Given the description of an element on the screen output the (x, y) to click on. 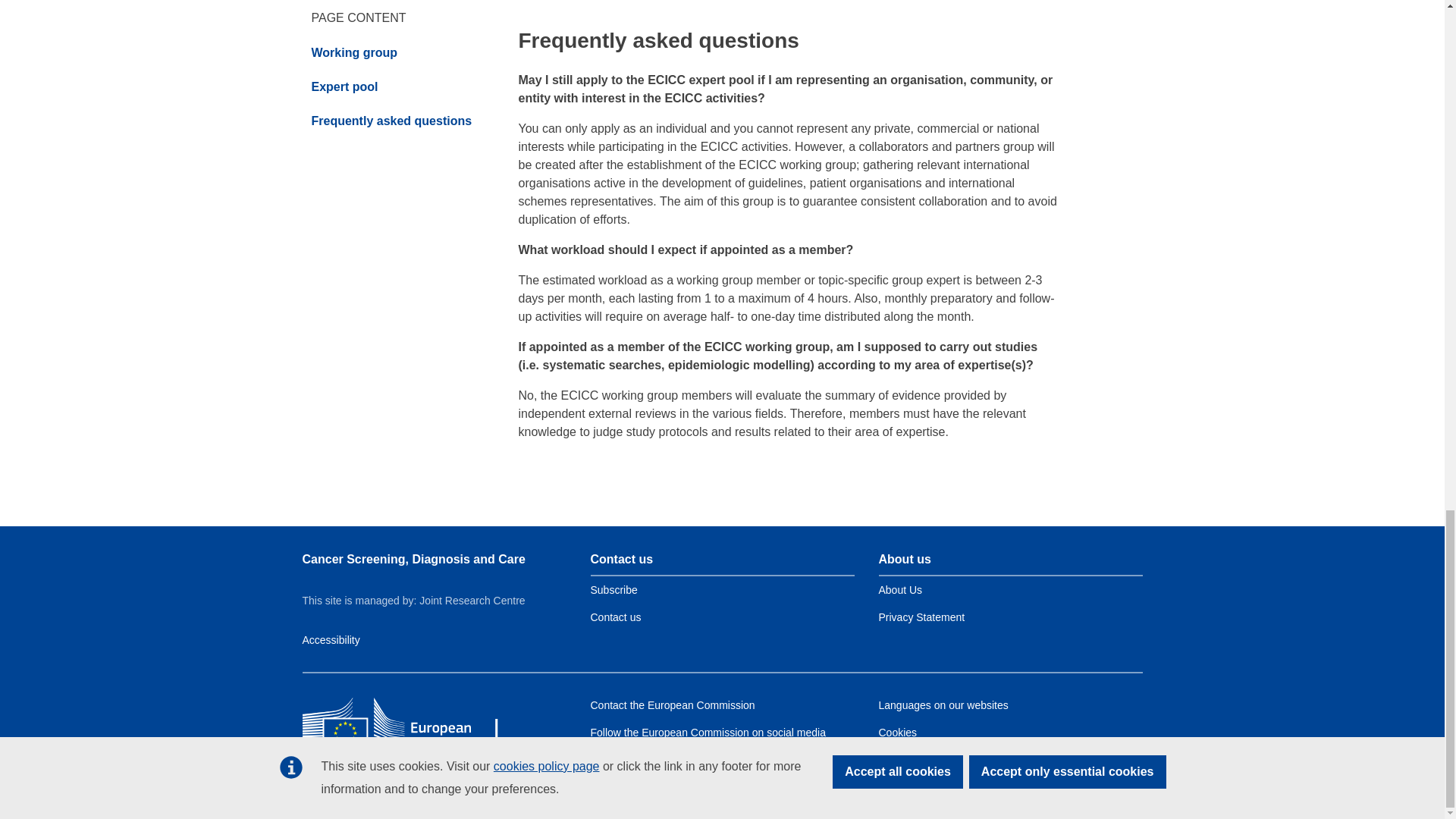
Contact us (614, 616)
Cancer Screening, Diagnosis and Care (412, 558)
Subscribe (613, 589)
European Commission (411, 726)
About Us (899, 589)
Accessibility (330, 639)
